Given the description of an element on the screen output the (x, y) to click on. 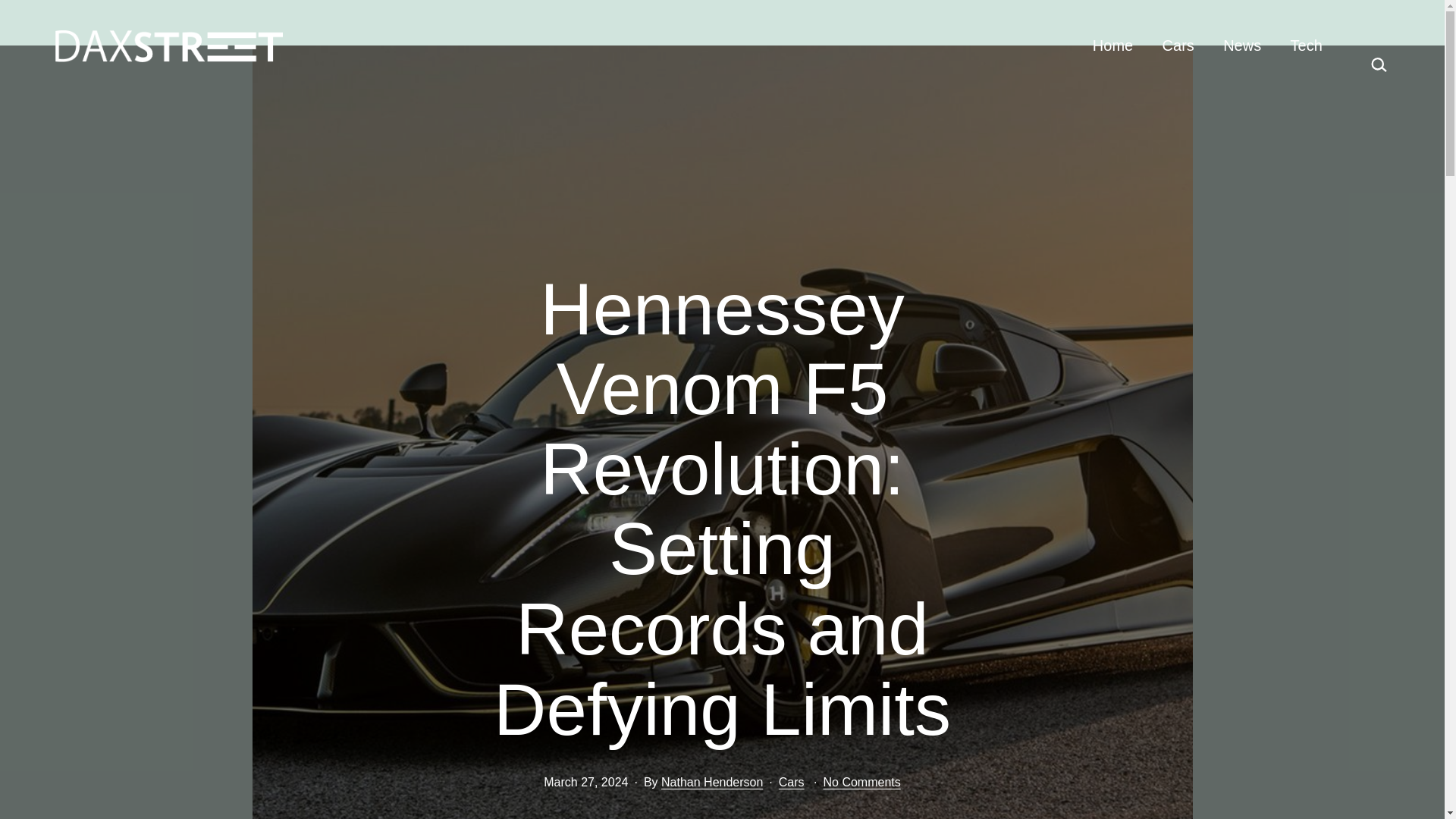
Tech (1305, 45)
Nathan Henderson (711, 781)
Cars (791, 781)
Home (1112, 45)
Cars (1177, 45)
News (1241, 45)
